Given the description of an element on the screen output the (x, y) to click on. 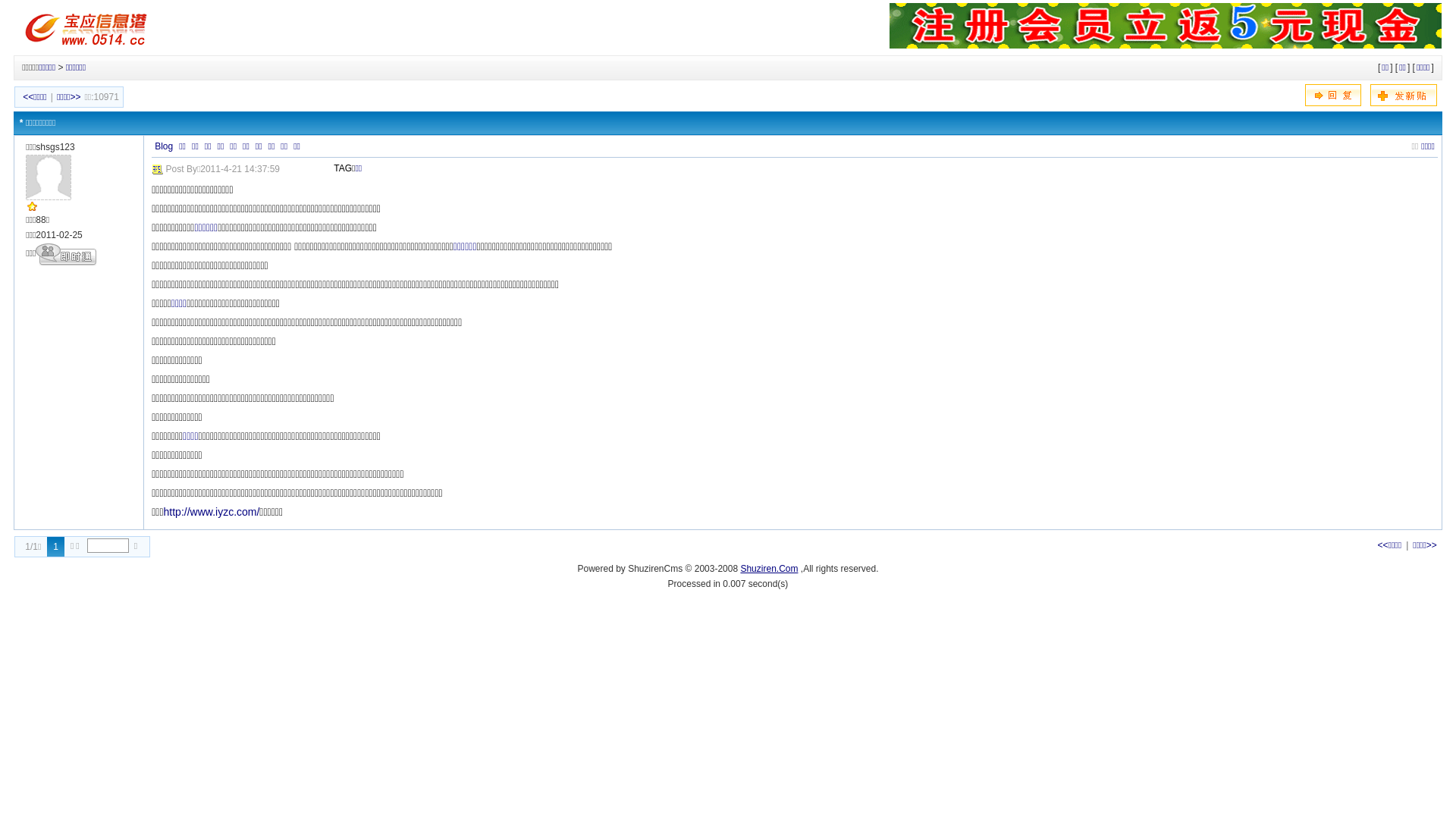
http://www.iyzc.com/ Element type: text (211, 511)
Blog Element type: text (163, 146)
Shuziren.Com Element type: text (768, 568)
